Given the description of an element on the screen output the (x, y) to click on. 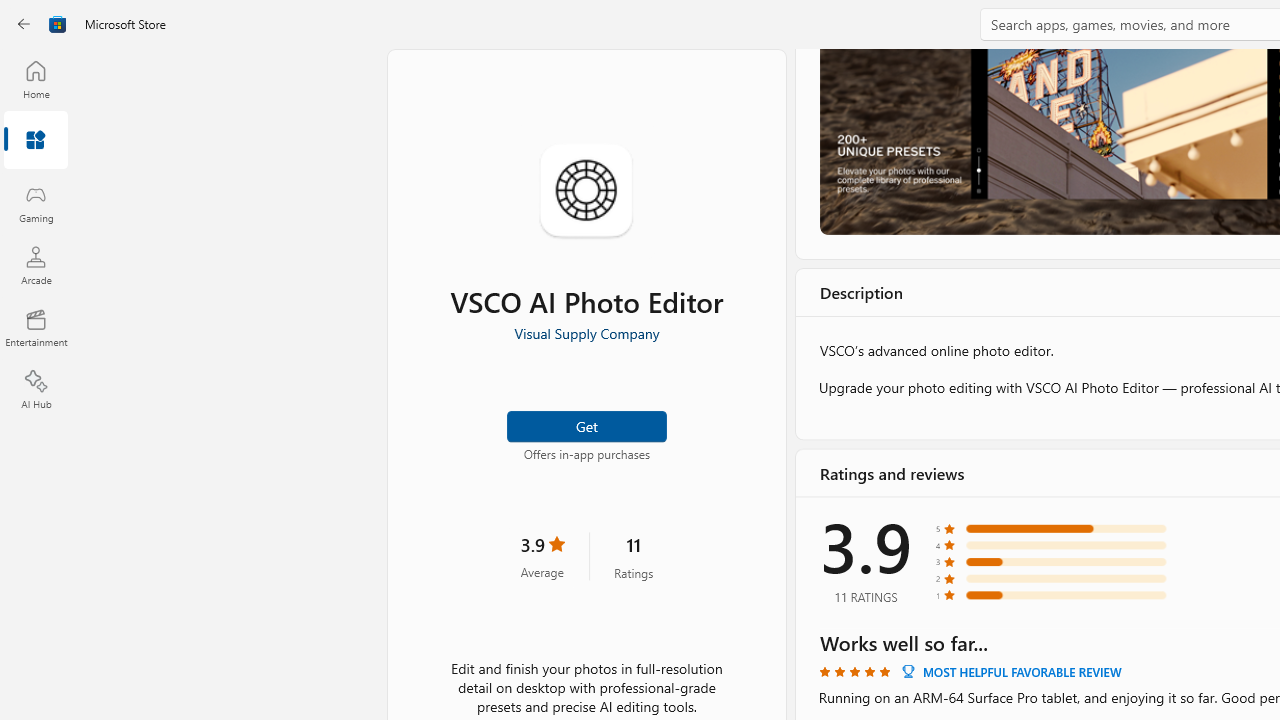
3.9 stars. Click to skip to ratings and reviews (542, 556)
Visual Supply Company (586, 333)
Get (586, 424)
Back (24, 24)
